Given the description of an element on the screen output the (x, y) to click on. 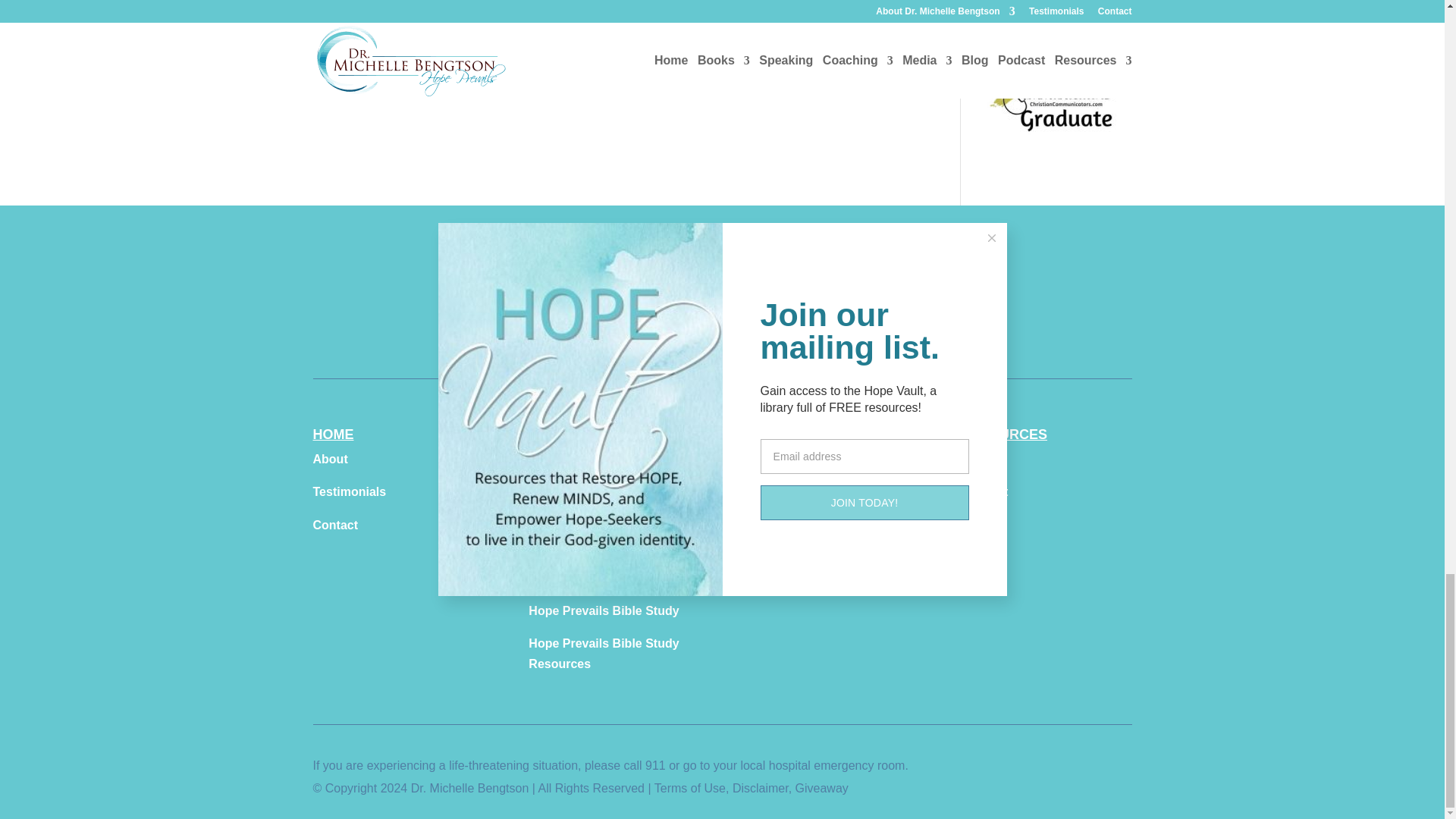
Follow on Podcast (782, 328)
Follow on Facebook (600, 328)
Follow on Instagram (660, 328)
Follow on Twitter (721, 328)
Follow on Pinterest (630, 328)
Follow on Amazon (812, 328)
Follow on Youtube (691, 328)
Follow on LinkedIn (751, 328)
Follow on BookBub (843, 328)
